Given the description of an element on the screen output the (x, y) to click on. 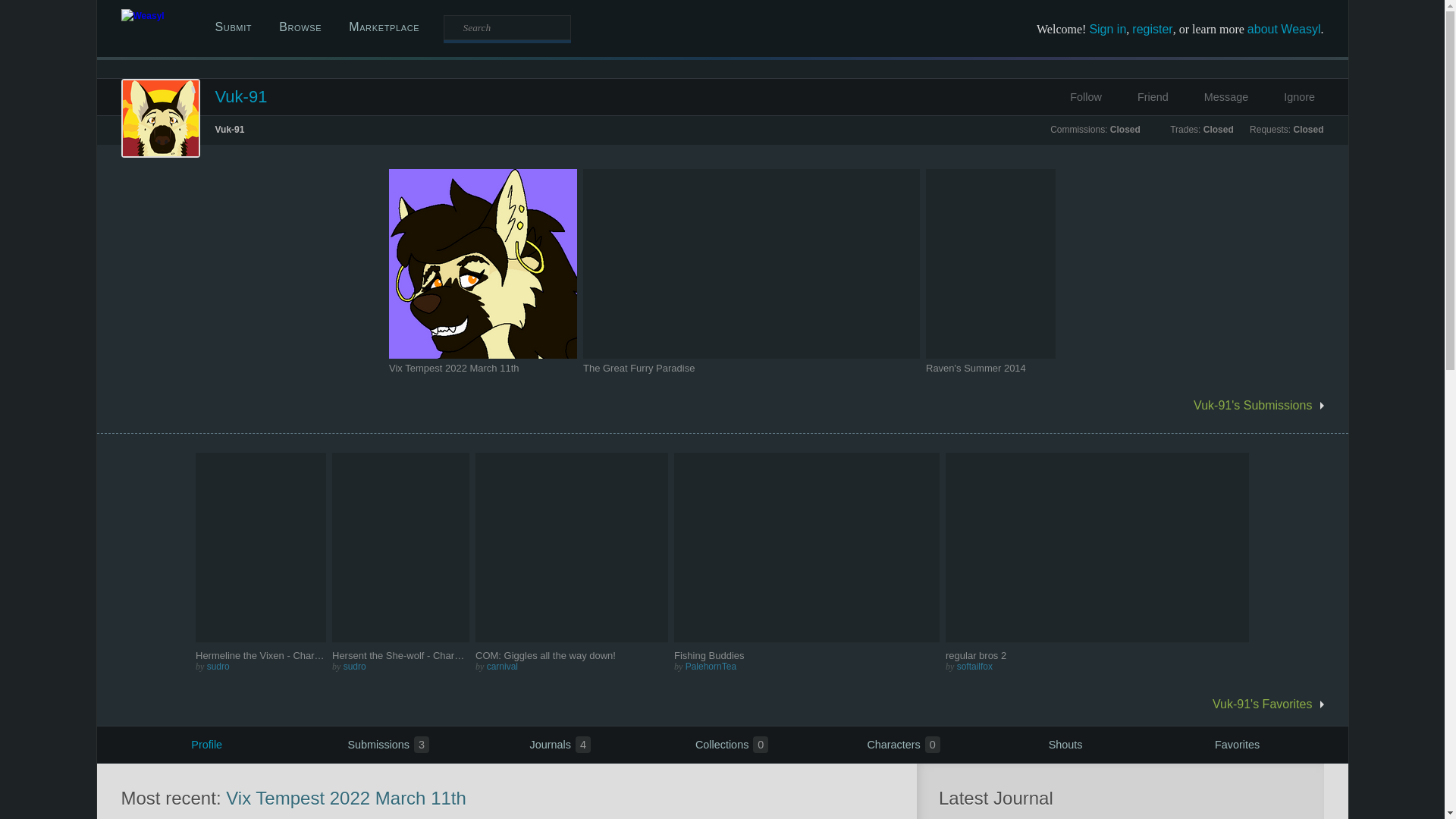
Vix Tempest 2022 March 11th (482, 367)
by carnival (572, 666)
by sudro (399, 666)
Ignore (1290, 96)
 Fishing Buddies (806, 655)
Friend (1142, 96)
about Weasyl (1283, 29)
COM: Giggles all the way down! (572, 655)
Vuk-91's Submissions (710, 405)
Vix Tempest 2022 March 11th (453, 367)
Marketplace (383, 27)
Hersent the She-wolf - Character design (419, 655)
Sign in (1107, 29)
Hermeline the Vixen - Character design (260, 655)
by PalehornTea (806, 666)
